Given the description of an element on the screen output the (x, y) to click on. 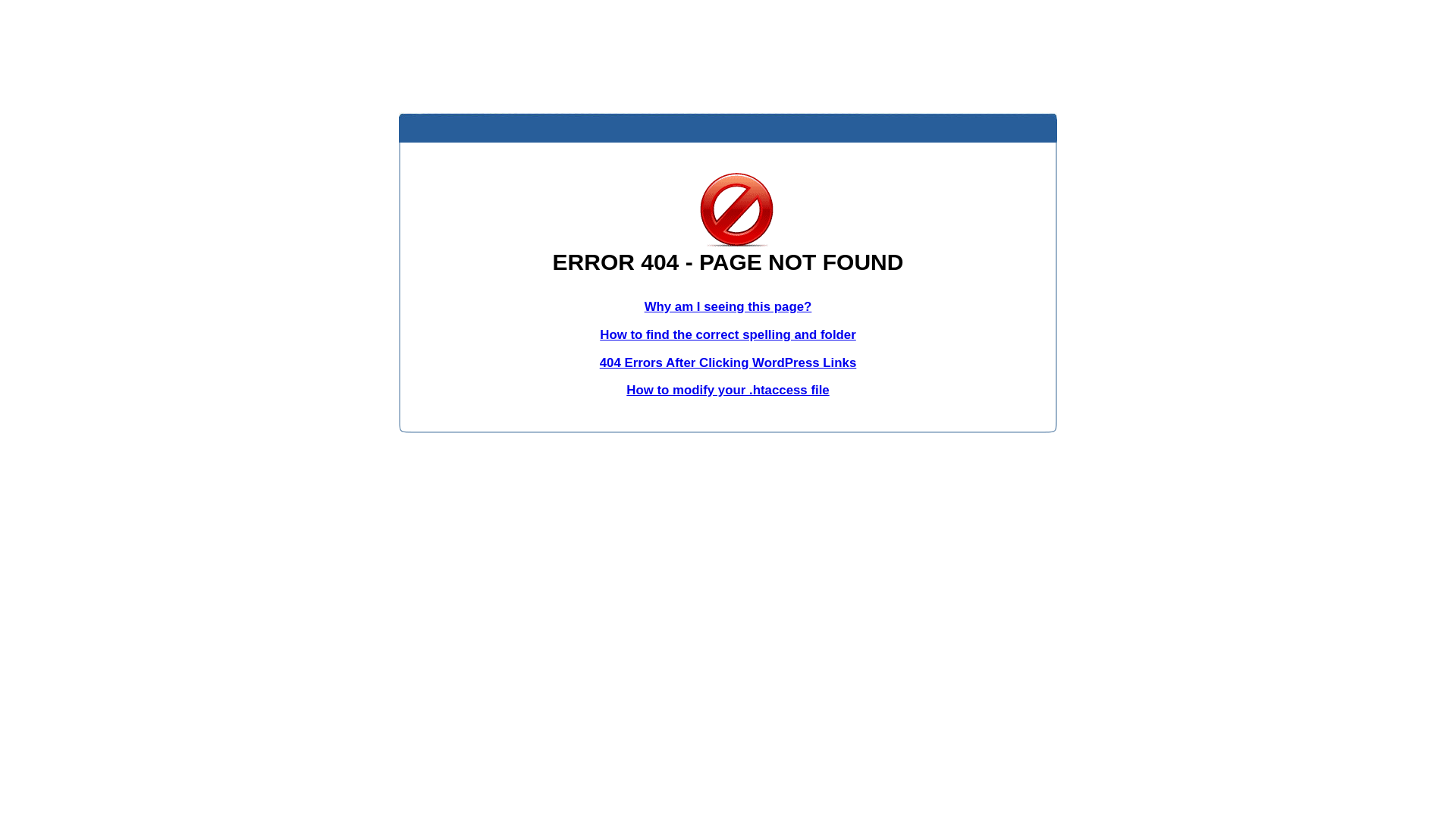
How to find the correct spelling and folder Element type: text (727, 334)
404 Errors After Clicking WordPress Links Element type: text (727, 362)
How to modify your .htaccess file Element type: text (727, 389)
Why am I seeing this page? Element type: text (728, 306)
